Given the description of an element on the screen output the (x, y) to click on. 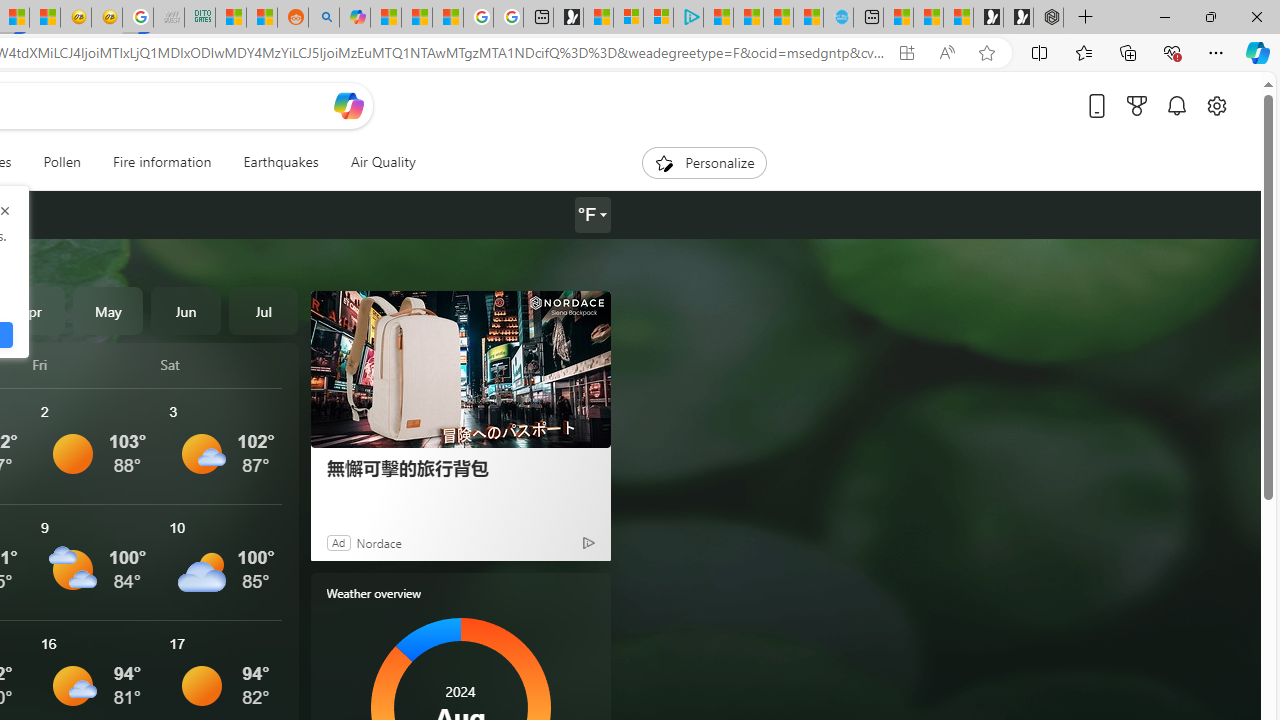
Fire information (161, 162)
